Given the description of an element on the screen output the (x, y) to click on. 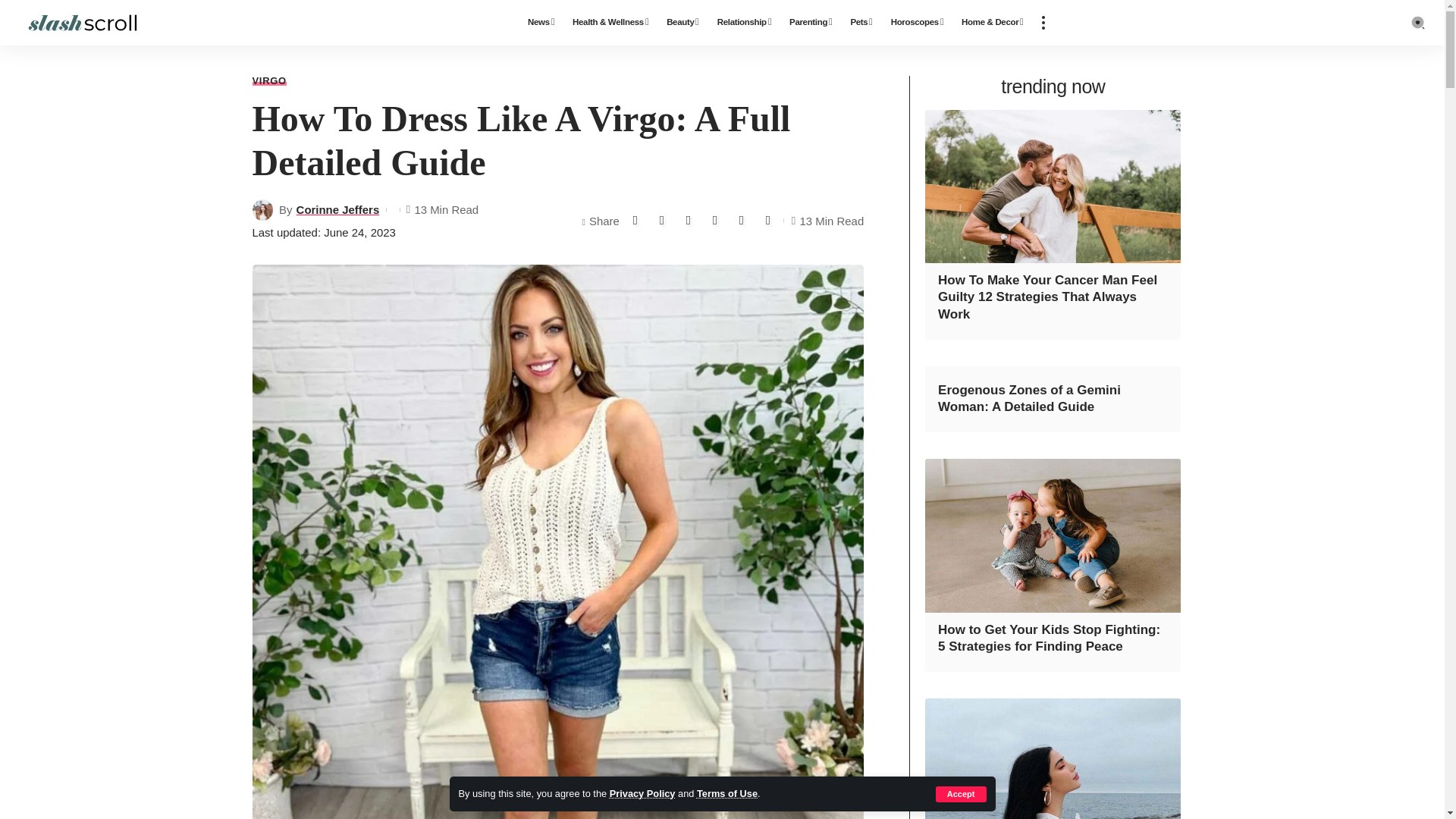
Privacy Policy (642, 793)
News (540, 22)
Accept (961, 794)
Terms of Use (727, 793)
Beauty (682, 22)
